Given the description of an element on the screen output the (x, y) to click on. 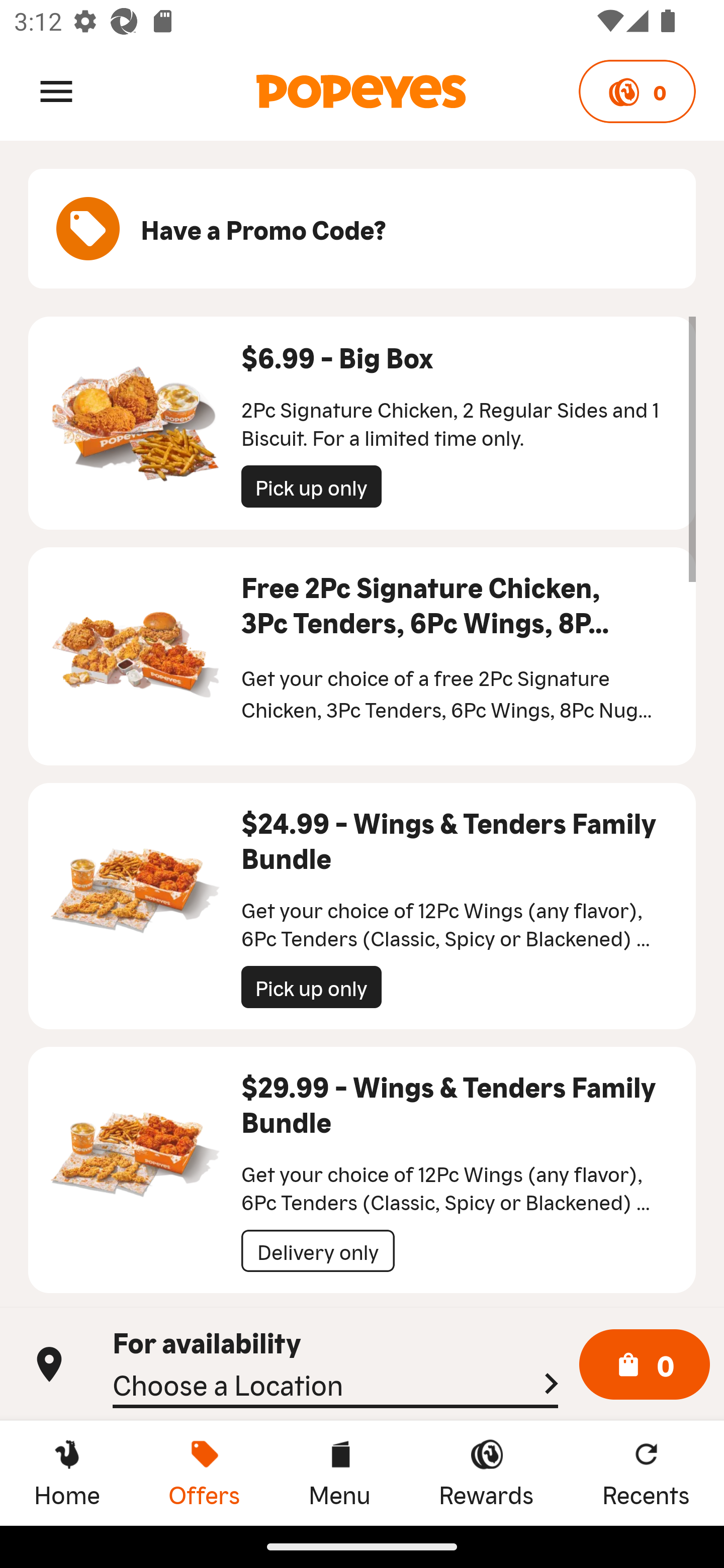
Menu  (56, 90)
0 Points 0 (636, 91)
Have a Promo Code?  Have a Promo Code? (361, 228)
0 Cart total  0 (644, 1364)
Home Home Home (66, 1472)
Offers, current page Offers Offers, current page (203, 1472)
Menu Menu Menu (339, 1472)
Rewards Rewards Rewards (486, 1472)
Recents Recents Recents (646, 1472)
